Given the description of an element on the screen output the (x, y) to click on. 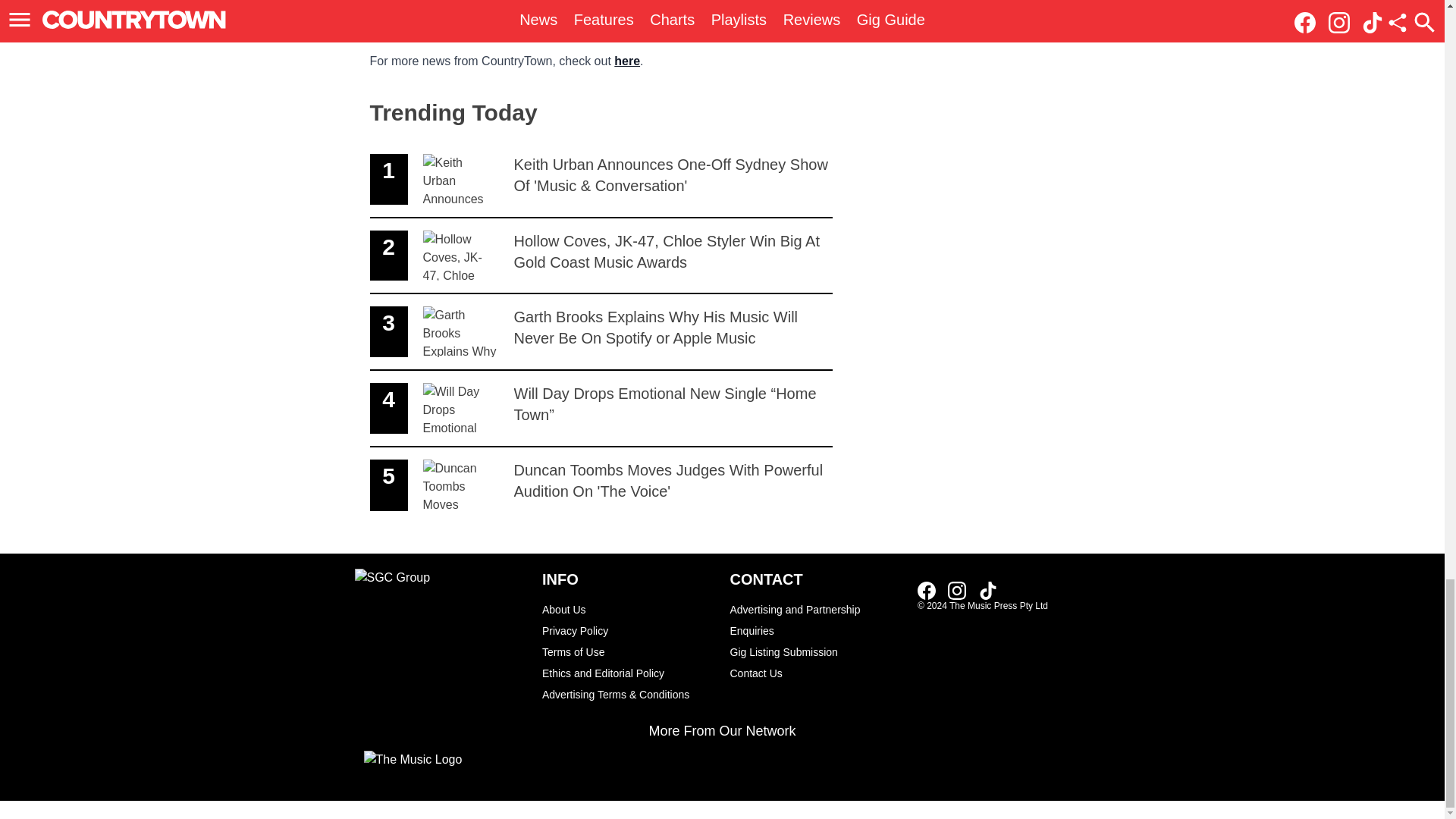
Link to our Instagram (956, 590)
Gig Listing Submission (815, 651)
Advertising and Partnership Enquiries (815, 619)
Link to our TikTok (987, 590)
here (627, 60)
Privacy Policy (627, 630)
About Us (627, 608)
